Given the description of an element on the screen output the (x, y) to click on. 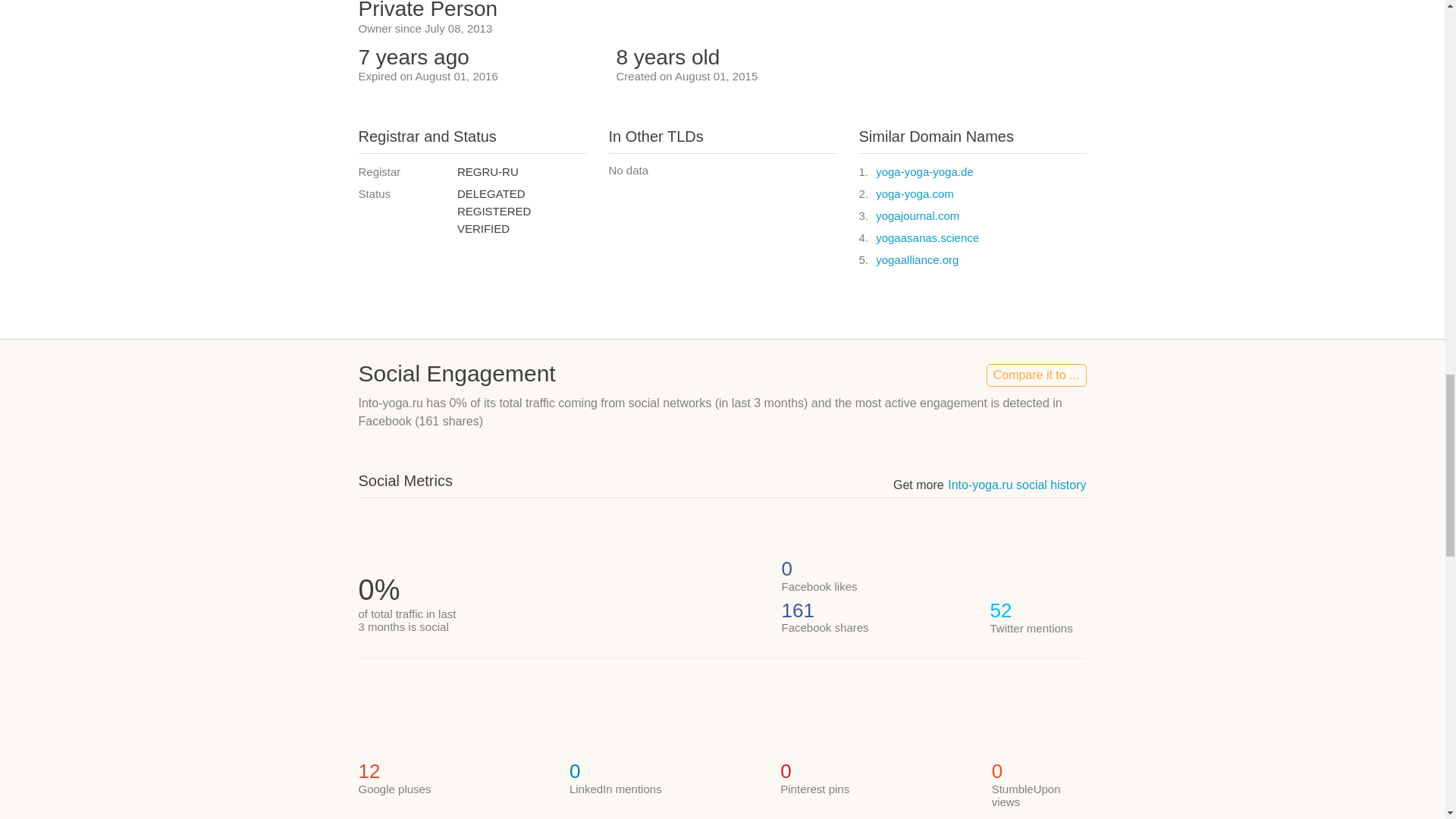
yogaalliance.org (917, 259)
Into-yoga.ru social history (1016, 484)
yoga-yoga.com (914, 193)
yogajournal.com (917, 215)
yoga-yoga-yoga.de (924, 171)
yogaasanas.science (927, 237)
Compare it to ... (1036, 374)
